Given the description of an element on the screen output the (x, y) to click on. 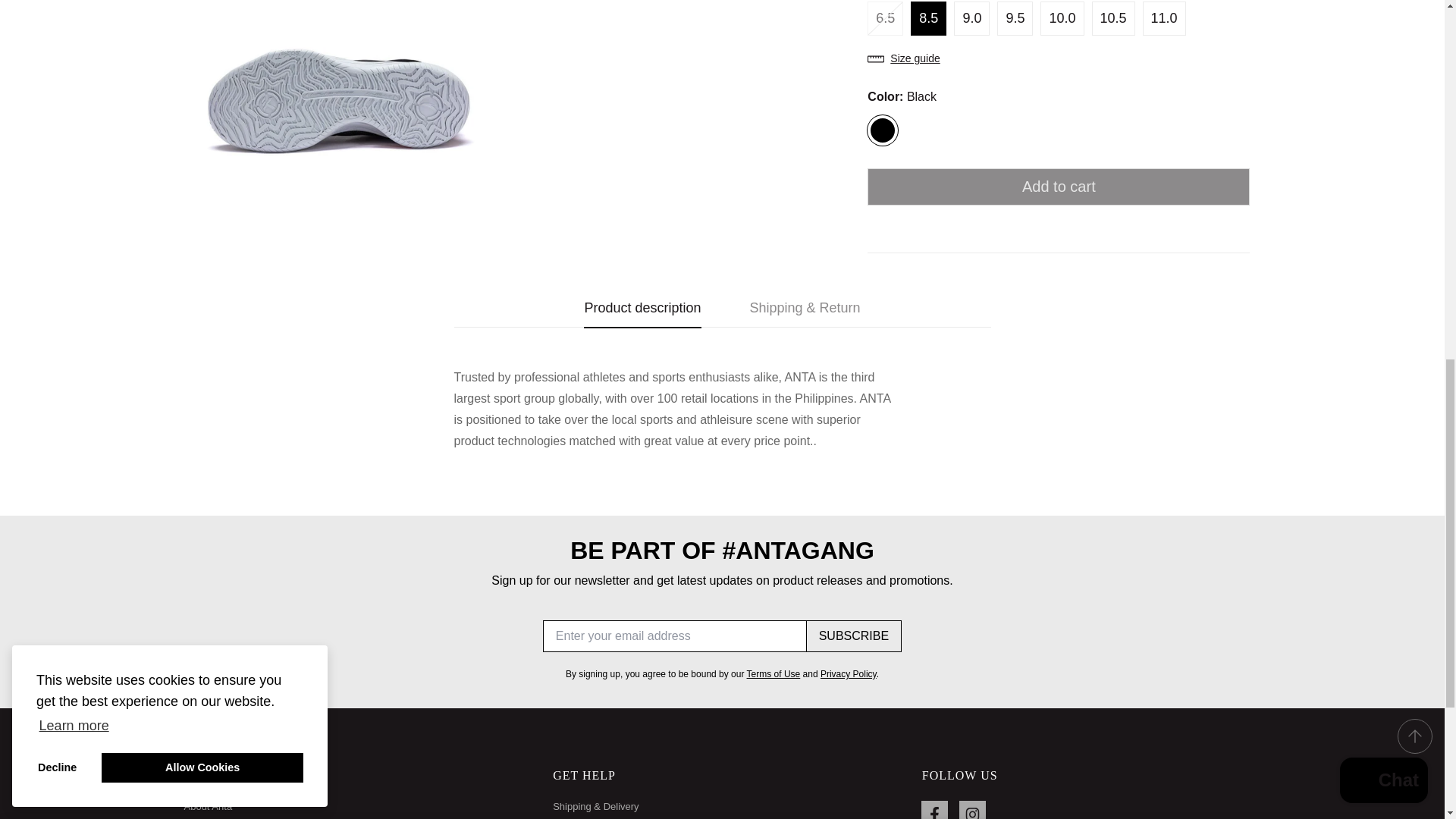
1 (1071, 27)
Privacy Policy (848, 674)
Terms of Use (773, 674)
